Given the description of an element on the screen output the (x, y) to click on. 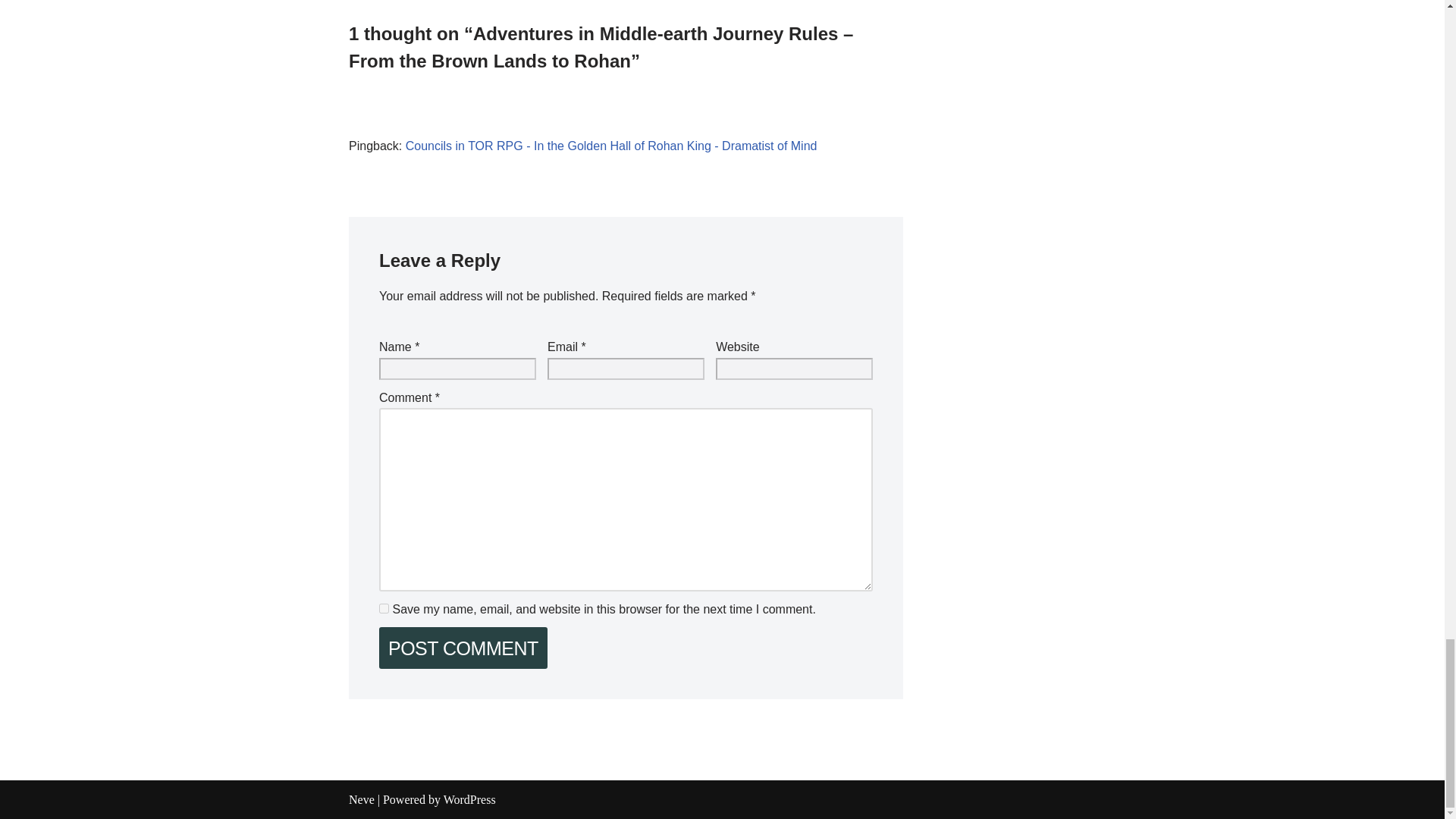
yes (383, 608)
Post Comment (462, 648)
Post Comment (462, 648)
